Given the description of an element on the screen output the (x, y) to click on. 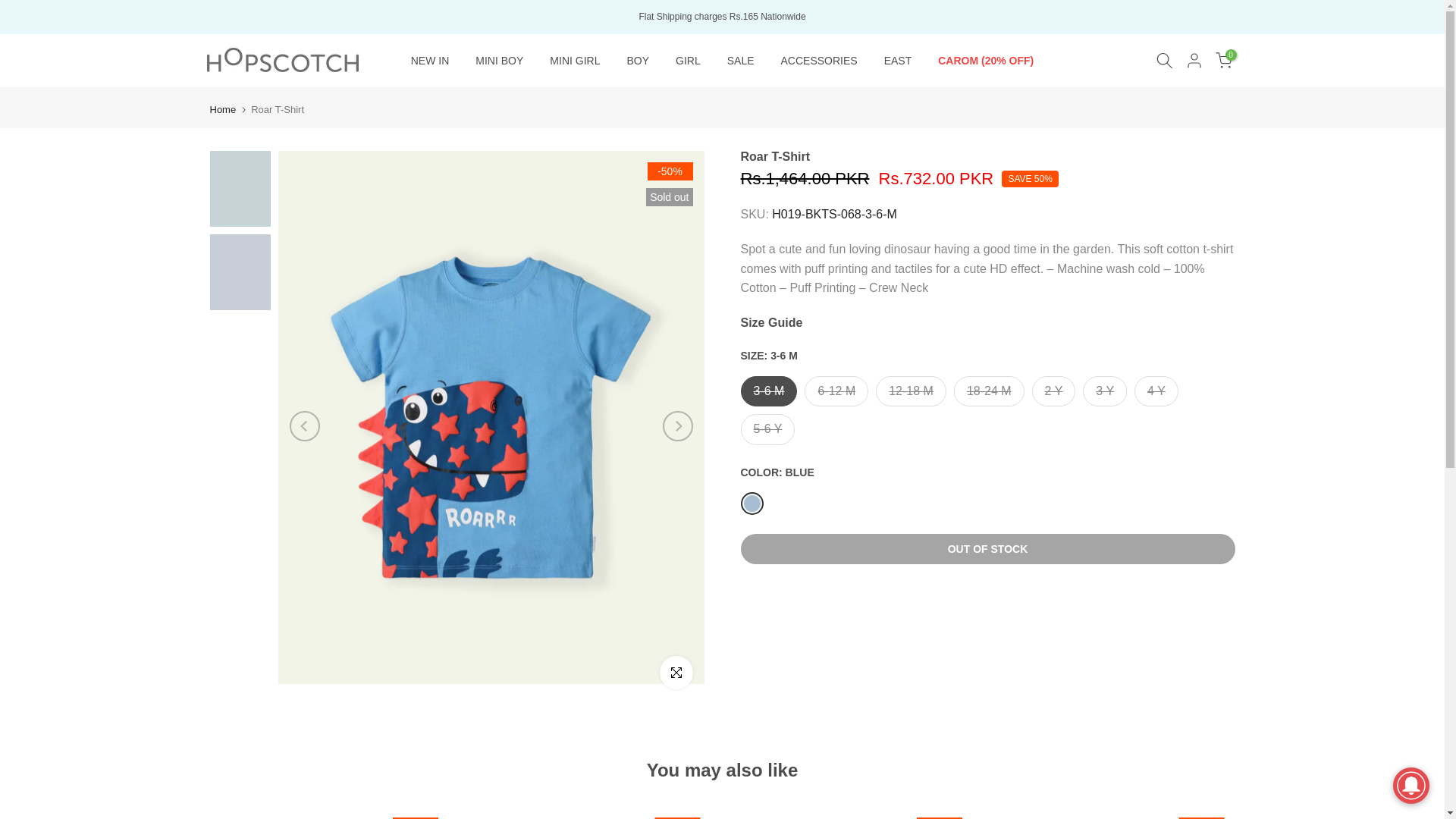
Blue (750, 503)
MINI BOY (500, 60)
Skip to content (10, 7)
NEW IN (430, 60)
MINI GIRL (574, 60)
